Given the description of an element on the screen output the (x, y) to click on. 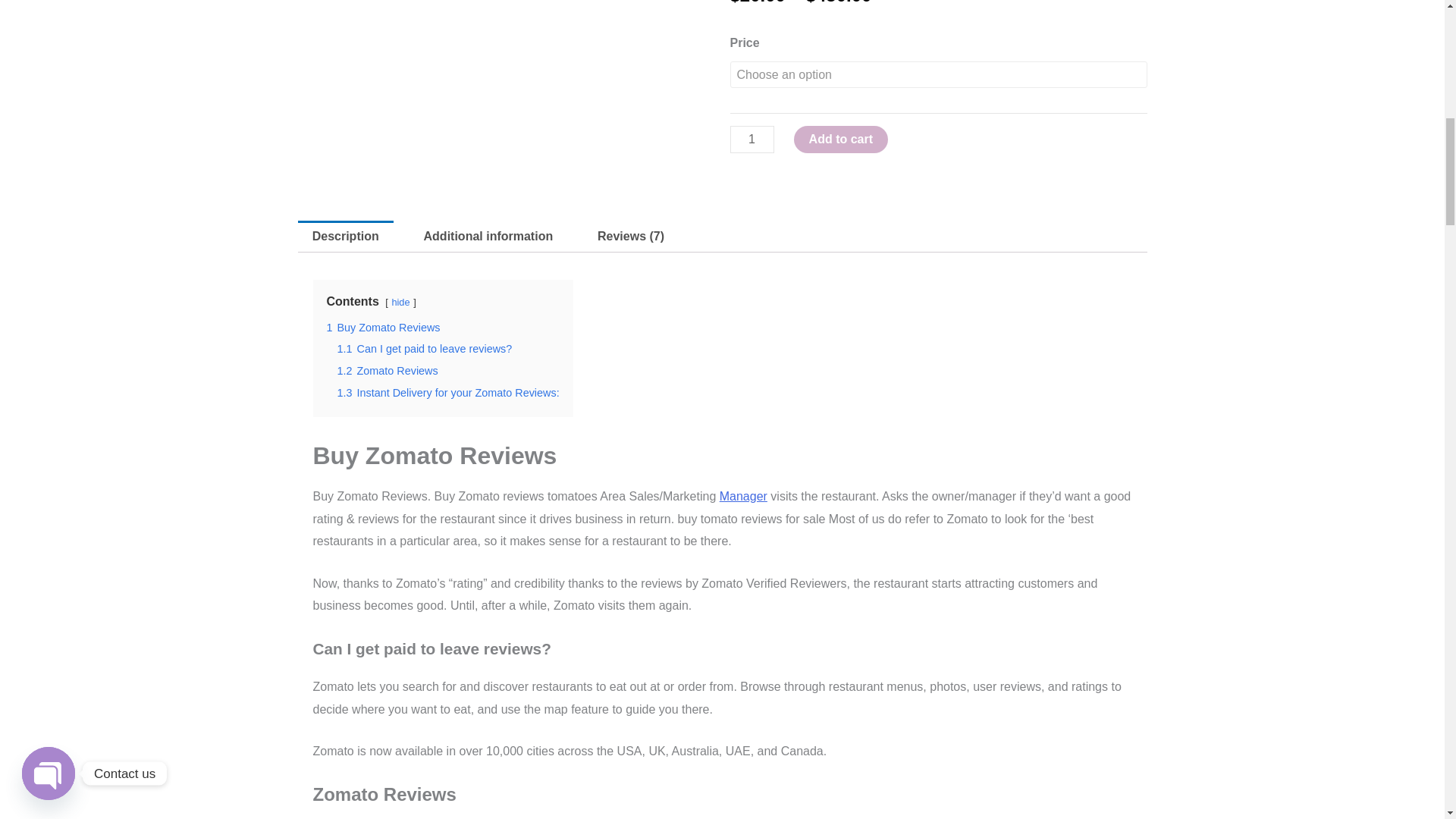
1.2 Zomato Reviews (387, 370)
1 (751, 139)
Manager (743, 495)
1.3 Instant Delivery for your Zomato Reviews: (447, 392)
1.1 Can I get paid to leave reviews? (424, 348)
Description (345, 236)
hide (400, 301)
Add to cart (840, 139)
Additional information (488, 236)
1 Buy Zomato Reviews (382, 327)
